Given the description of an element on the screen output the (x, y) to click on. 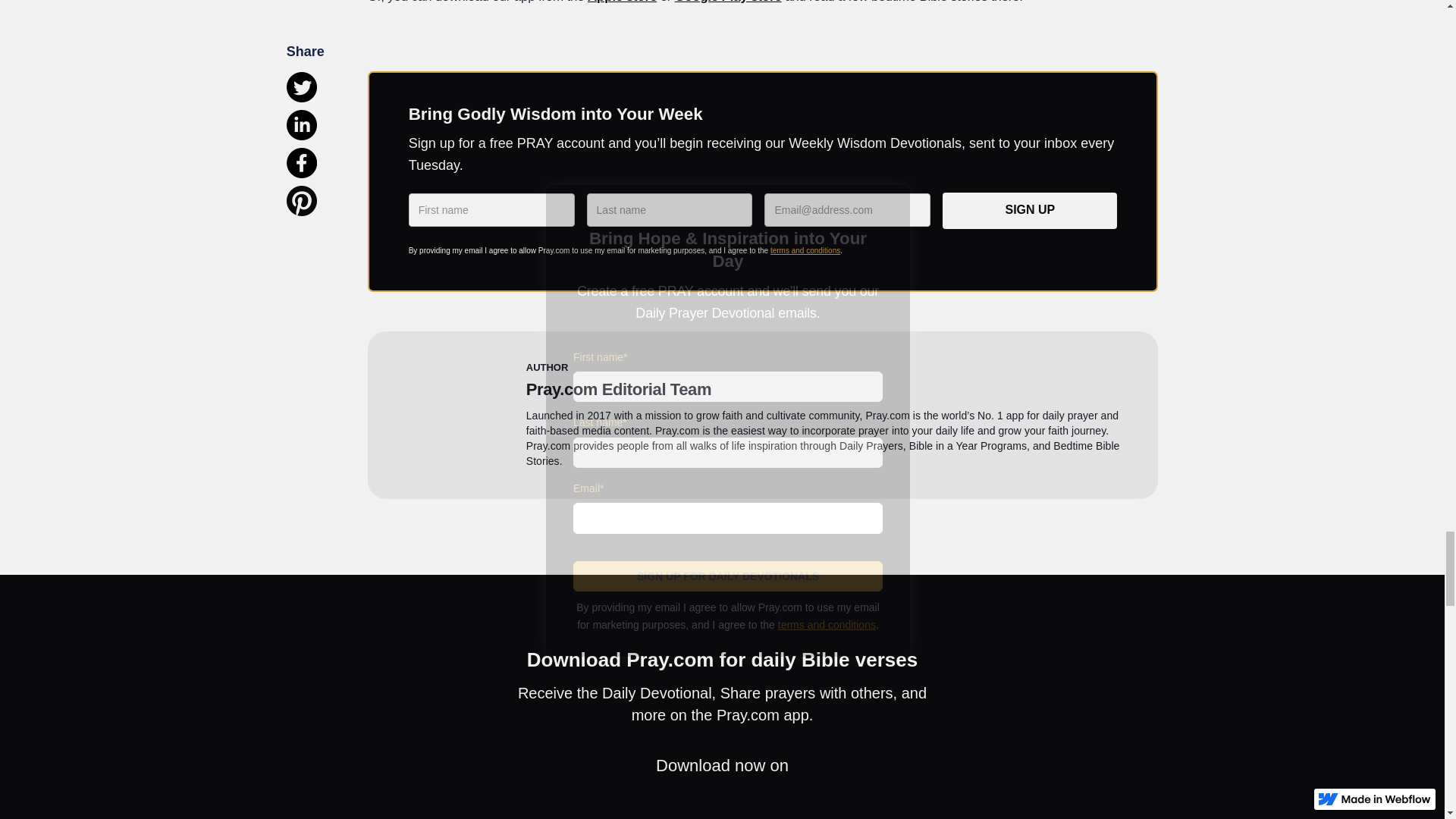
Sign up (1029, 210)
